Given the description of an element on the screen output the (x, y) to click on. 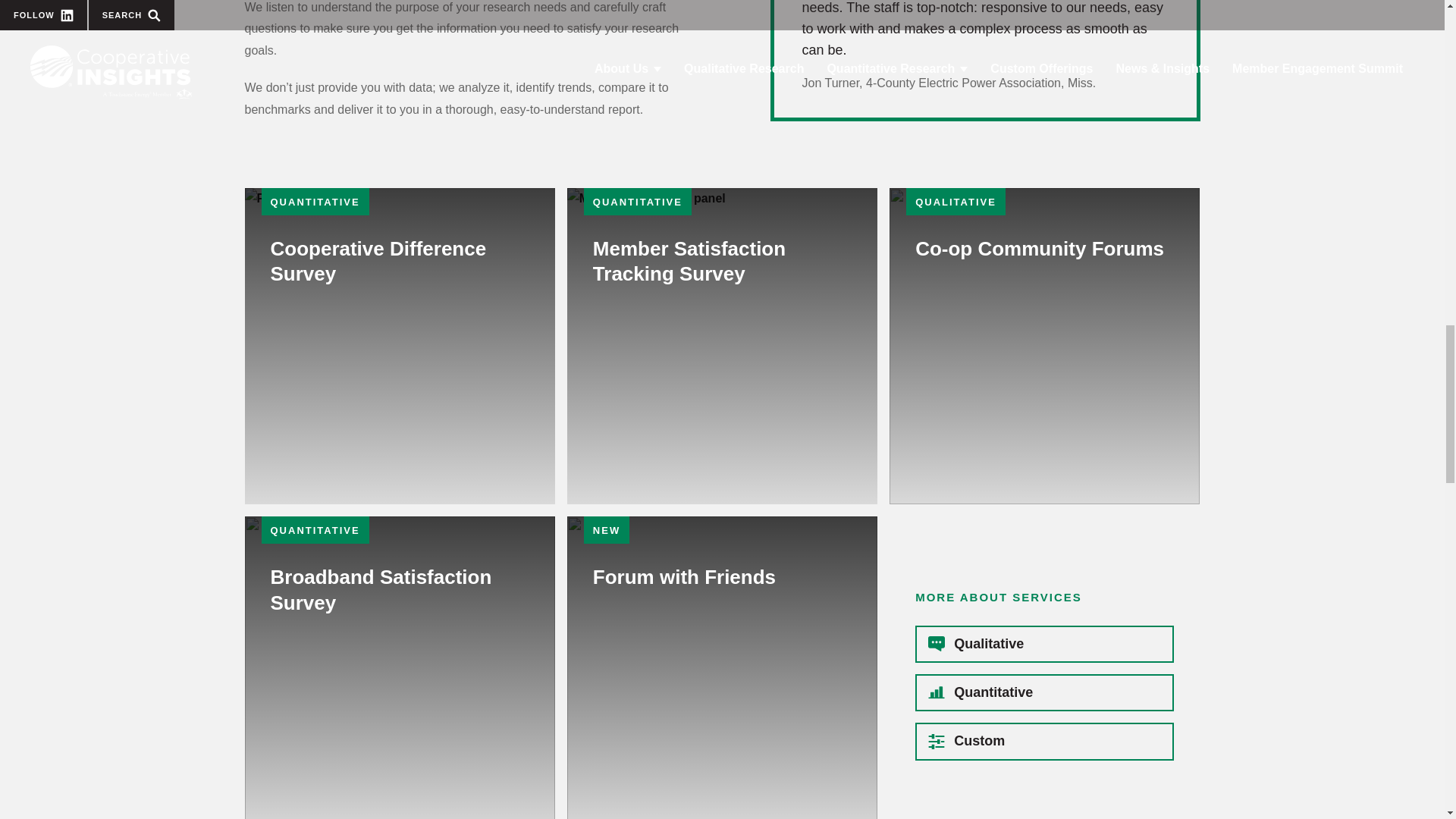
Quantitative (399, 346)
Custom (1044, 692)
Qualitative (1044, 346)
